Given the description of an element on the screen output the (x, y) to click on. 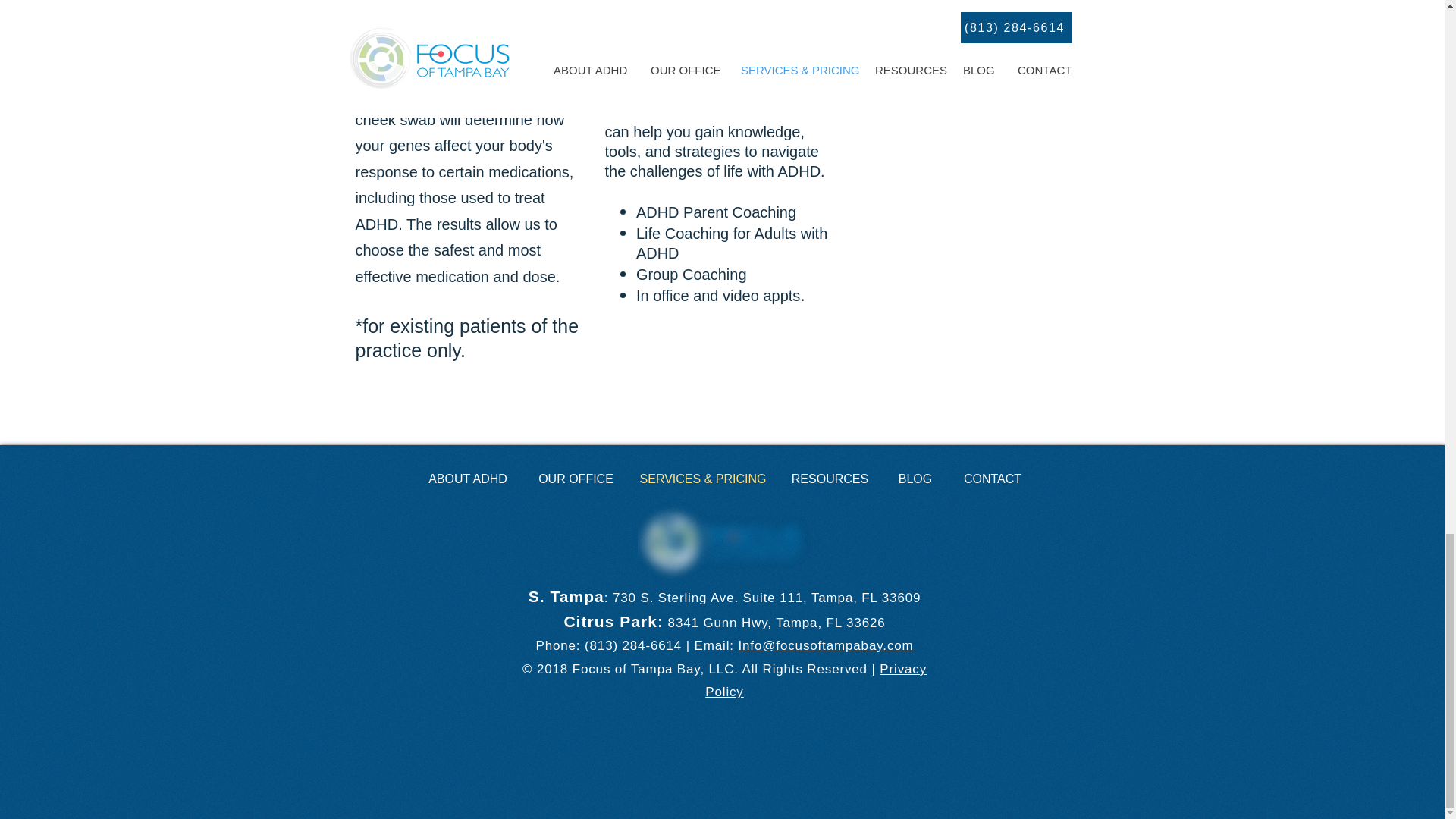
RESOURCES (829, 478)
ABOUT ADHD (468, 478)
CONTACT (991, 478)
BLOG (915, 478)
Privacy Policy (815, 680)
